Given the description of an element on the screen output the (x, y) to click on. 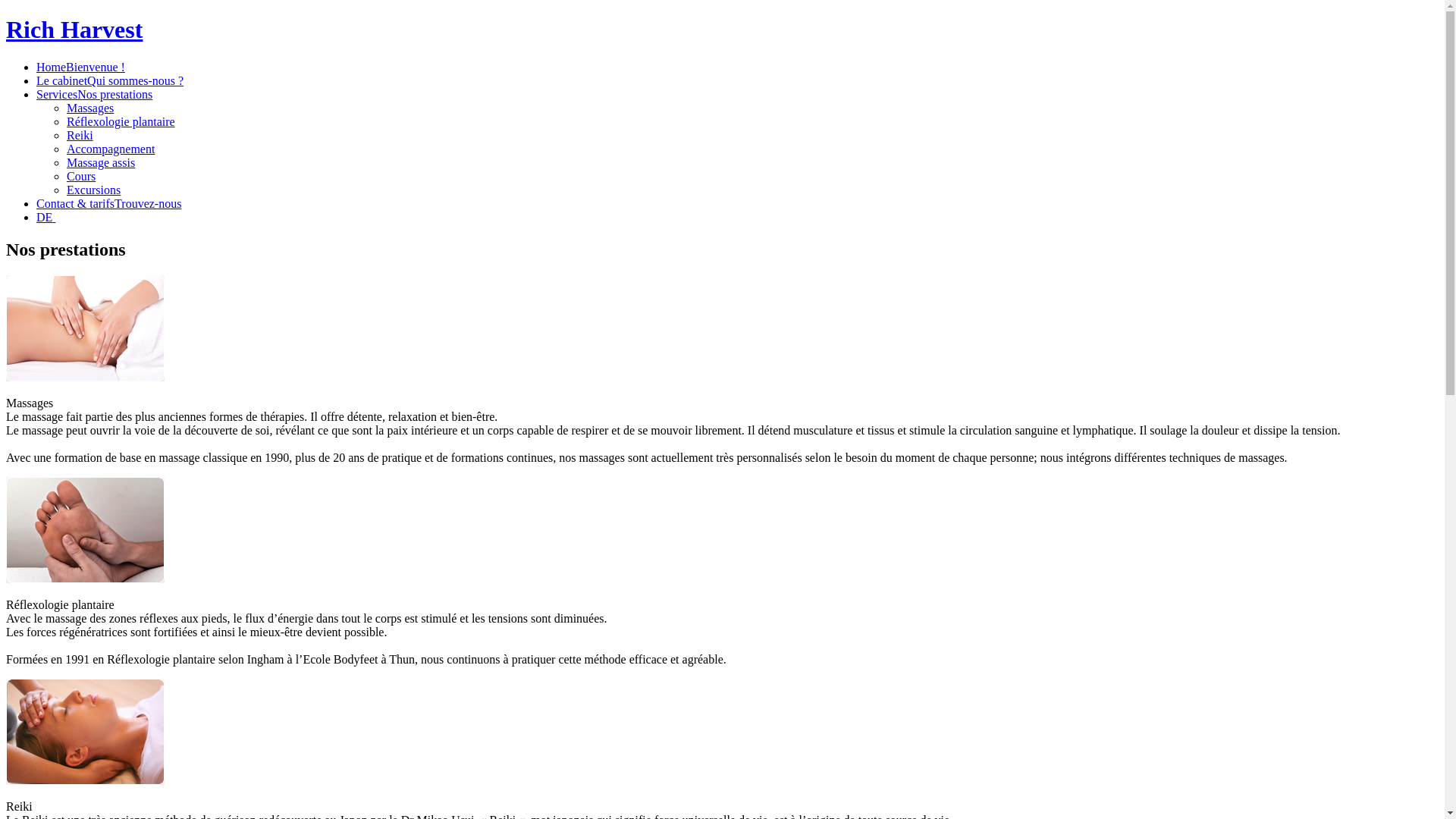
Cours Element type: text (80, 175)
Reiki Element type: text (19, 806)
Rich Harvest Element type: text (74, 29)
Le cabinetQui sommes-nous ? Element type: text (109, 80)
Massages Element type: text (29, 402)
Massage assis Element type: text (100, 162)
ServicesNos prestations Element type: text (94, 93)
Excursions Element type: text (93, 189)
HomeBienvenue ! Element type: text (80, 66)
Massages Element type: text (89, 107)
Contact & tarifsTrouvez-nous Element type: text (108, 203)
Reiki Element type: text (79, 134)
Accompagnement Element type: text (110, 148)
DE  Element type: text (45, 216)
